Given the description of an element on the screen output the (x, y) to click on. 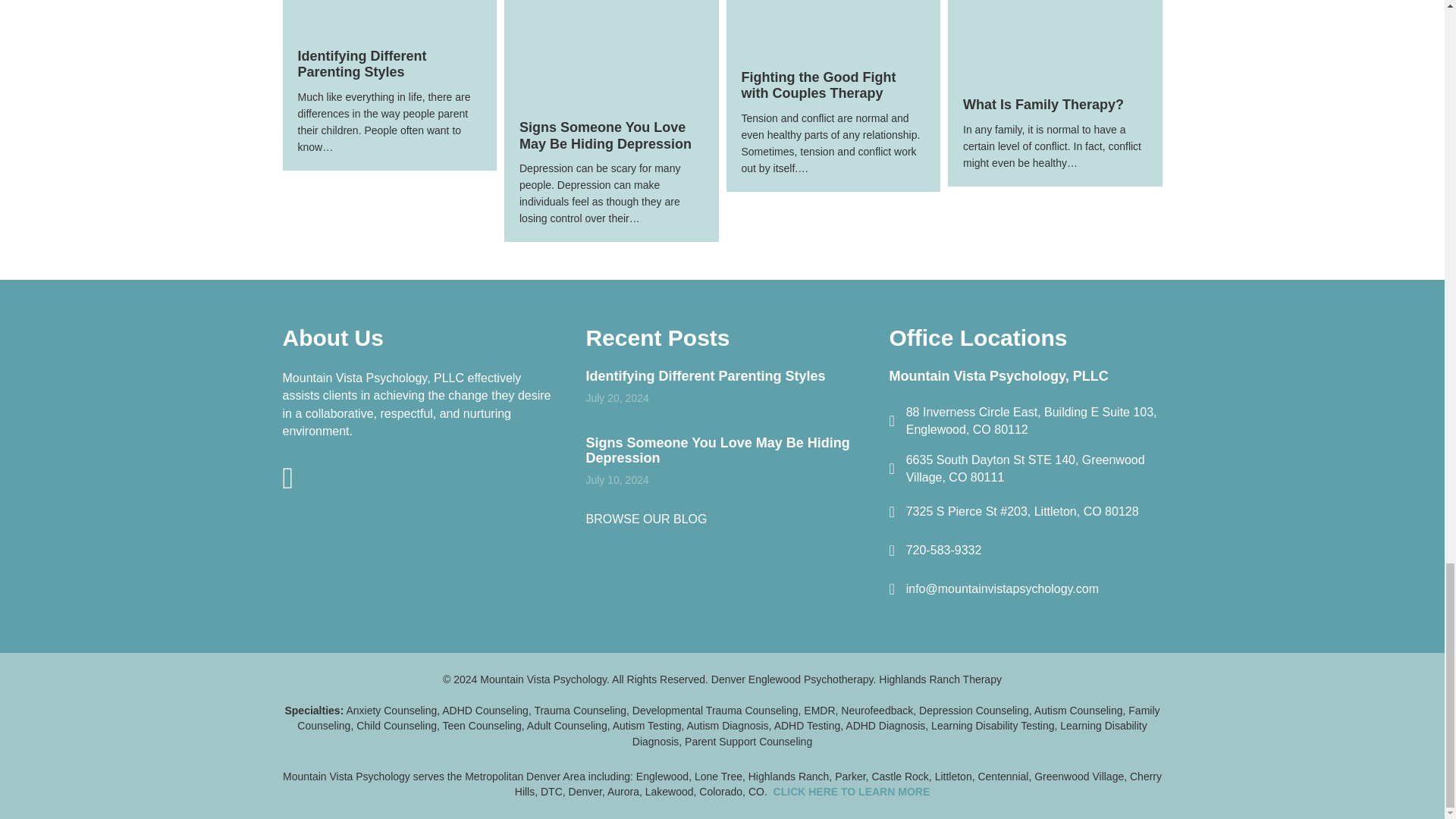
Signs Someone You Love May Be Hiding Depression (611, 31)
Identifying Different Parenting Styles (705, 376)
Signs Someone You Love May Be Hiding Depression (605, 135)
What Is Family Therapy? (1054, 20)
Identifying Different Parenting Styles (389, 1)
What Is Family Therapy? (1043, 104)
Fighting the Good Fight with Couples Therapy (833, 6)
Fighting the Good Fight with Couples Therapy (818, 85)
Signs Someone You Love May Be Hiding Depression (716, 450)
Identifying Different Parenting Styles (361, 64)
